Given the description of an element on the screen output the (x, y) to click on. 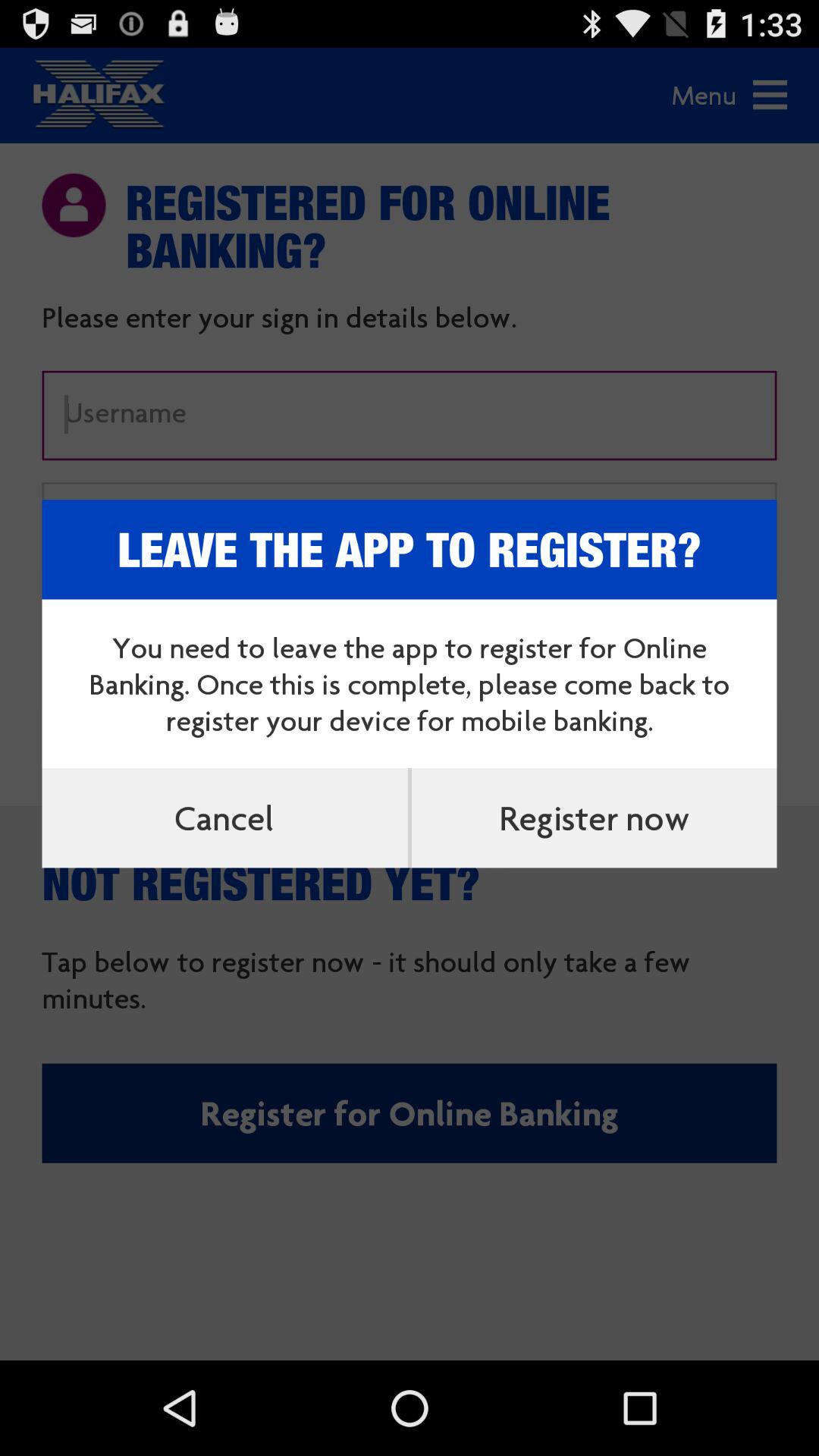
click register now (593, 817)
